Given the description of an element on the screen output the (x, y) to click on. 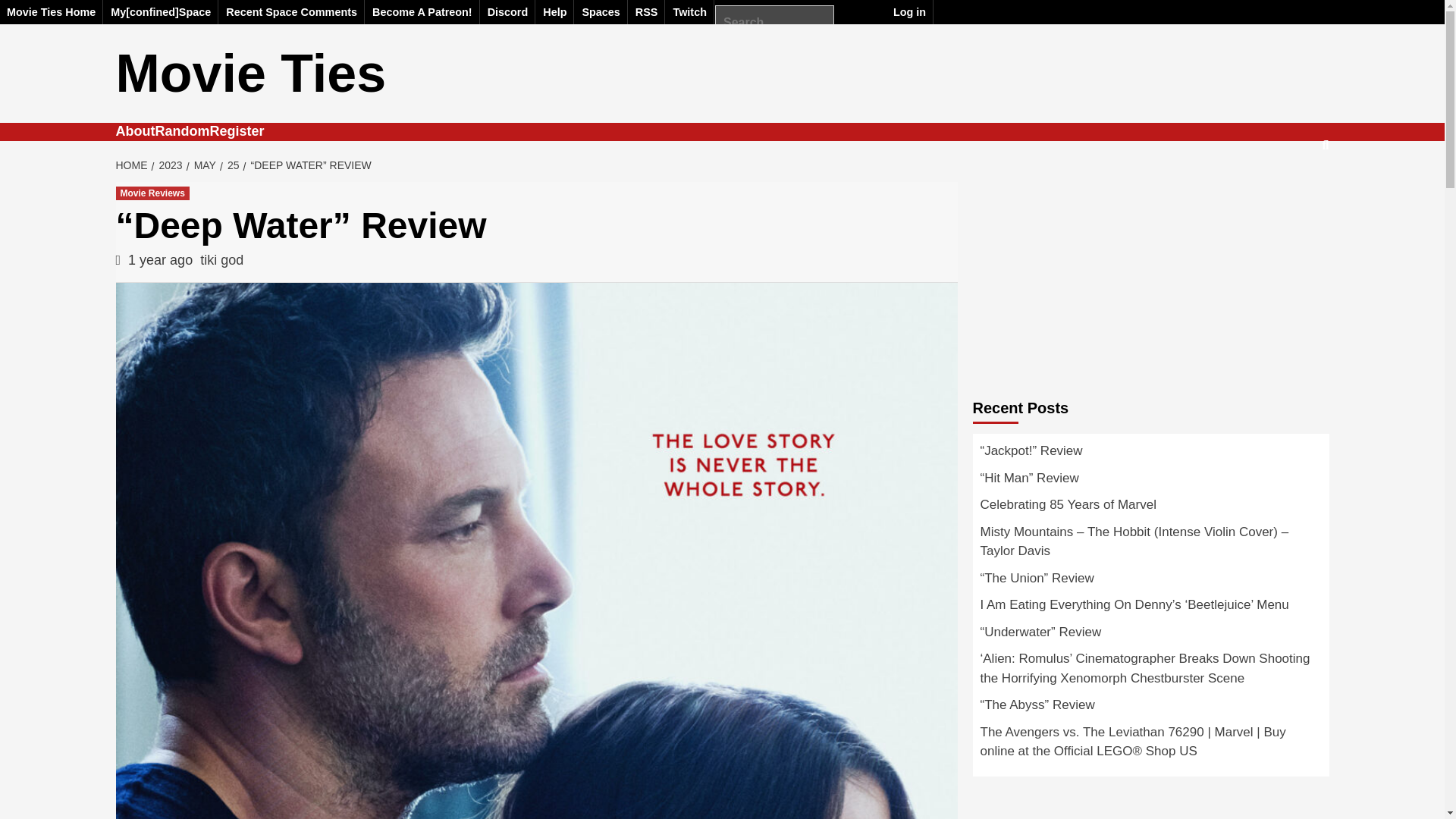
Help (554, 12)
25 (231, 164)
Go To The Front Page (160, 12)
tiki god (221, 259)
Movie Reviews (152, 192)
Spaces (601, 12)
Search (25, 17)
MAY (202, 164)
Discord (507, 12)
HOME (133, 164)
